Given the description of an element on the screen output the (x, y) to click on. 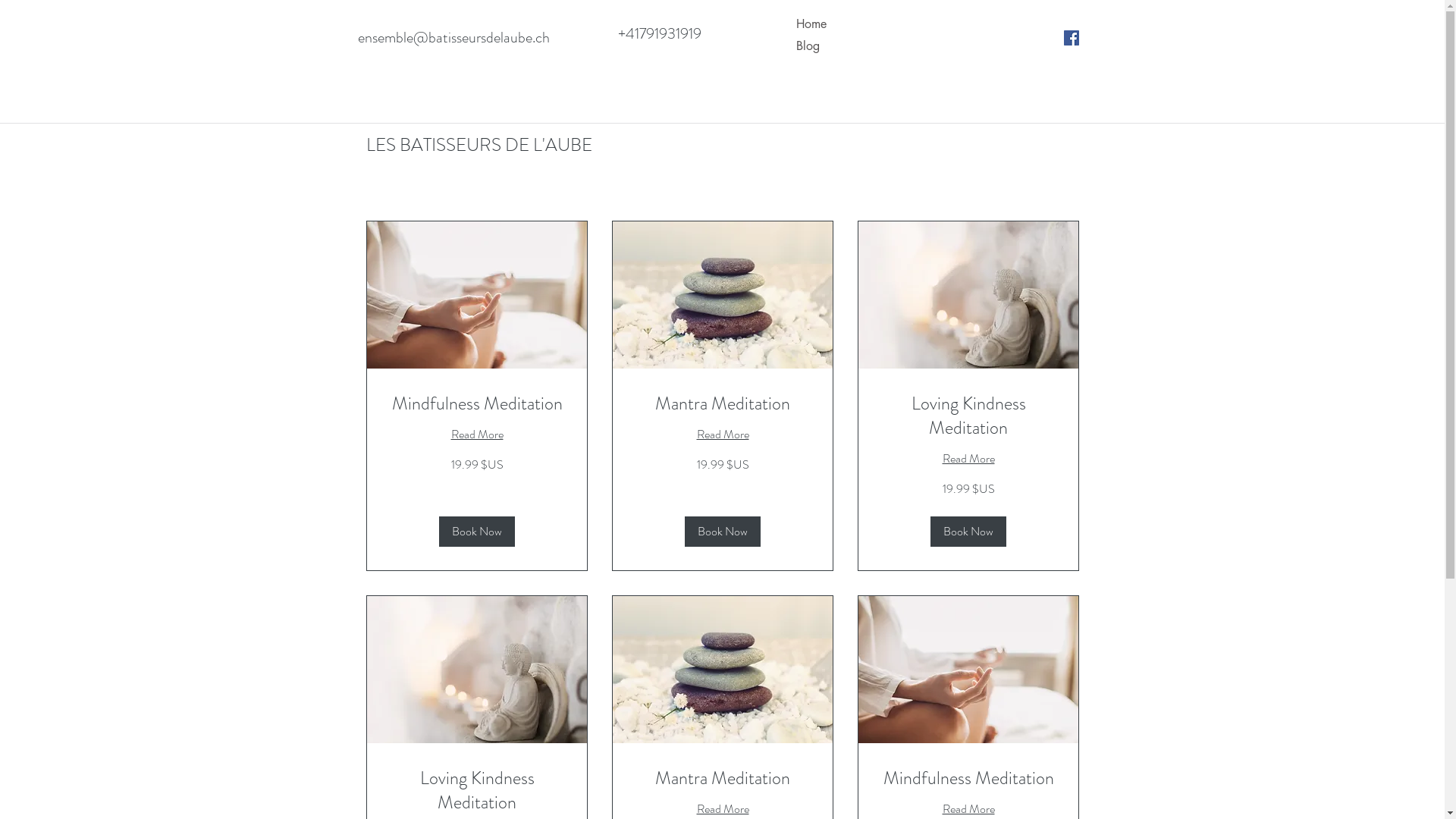
Mantra Meditation Element type: text (721, 404)
Mindfulness Meditation Element type: text (475, 404)
Home Element type: text (861, 23)
ensemble@batisseursdelaube.ch Element type: text (453, 37)
Book Now Element type: text (721, 531)
Mantra Meditation Element type: text (721, 778)
Read More Element type: text (967, 458)
Read More Element type: text (722, 809)
Blog Element type: text (861, 45)
Read More Element type: text (967, 809)
Loving Kindness Meditation Element type: text (475, 790)
Book Now Element type: text (967, 531)
Book Now Element type: text (476, 531)
Mindfulness Meditation Element type: text (967, 778)
Loving Kindness Meditation Element type: text (967, 416)
Read More Element type: text (476, 434)
Read More Element type: text (722, 434)
